Given the description of an element on the screen output the (x, y) to click on. 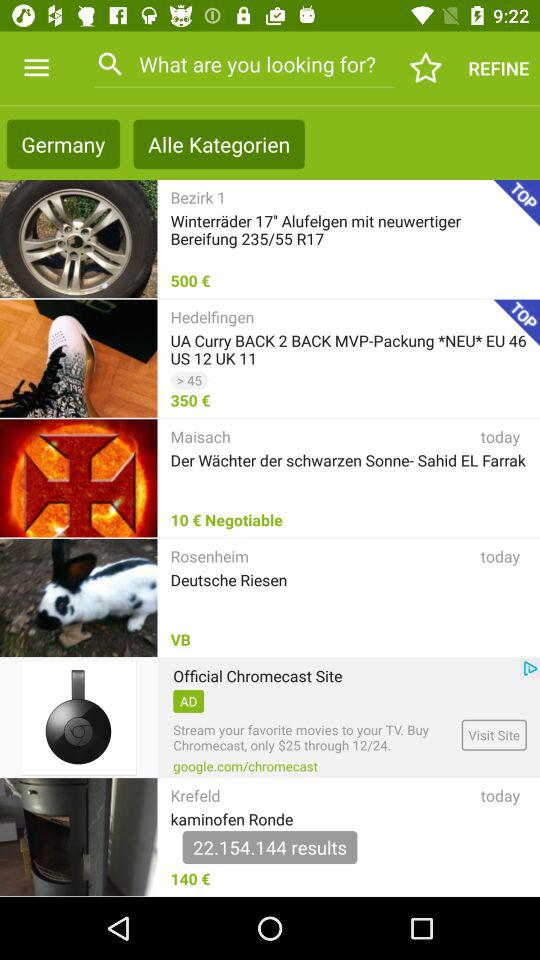
click on icon on the right side of official chromecast site (530, 667)
select the text below 922 (498, 68)
click on visit site (494, 735)
